Given the description of an element on the screen output the (x, y) to click on. 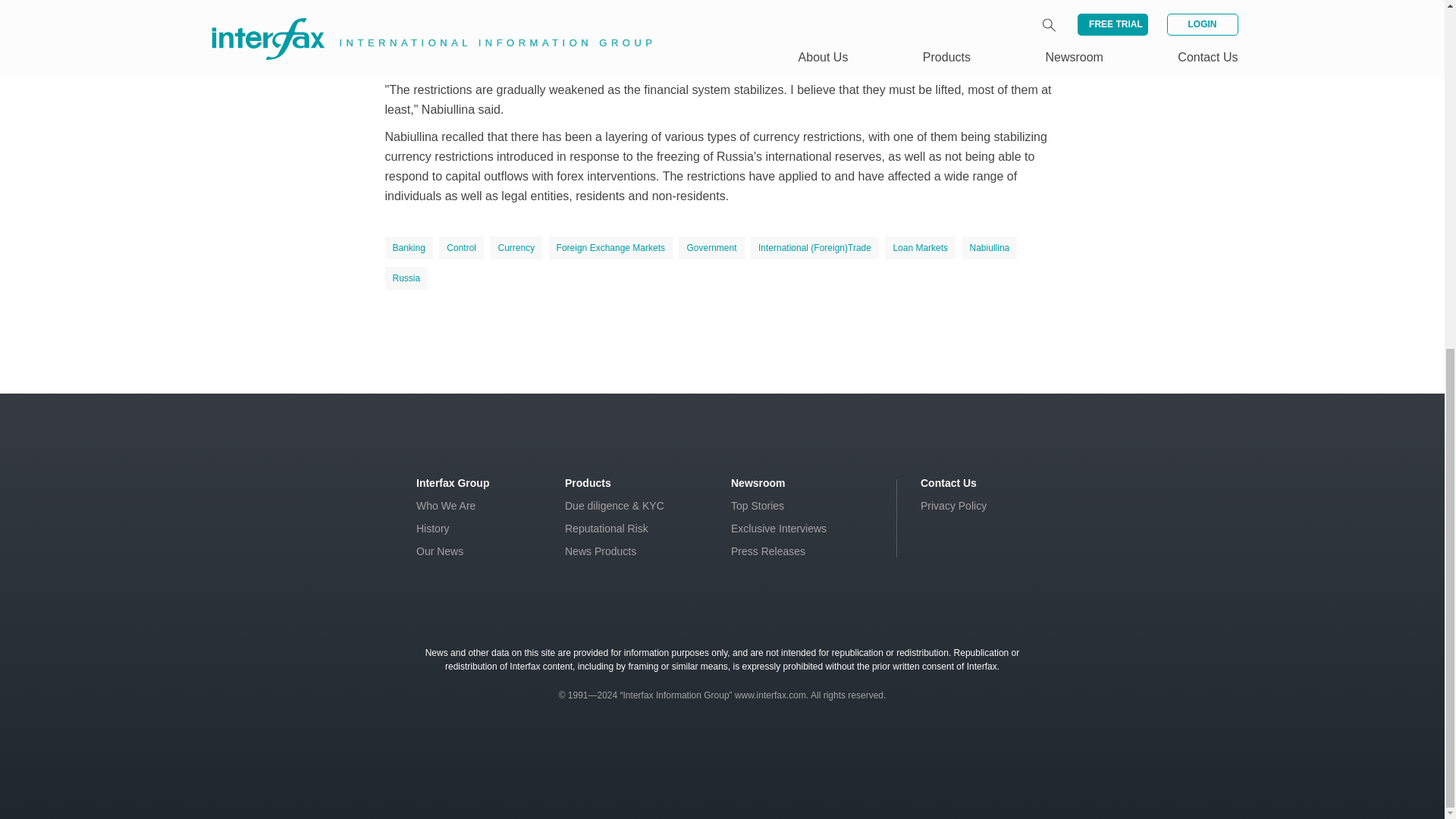
Foreign Exchange Markets (610, 247)
Control (461, 247)
Banking (408, 247)
Currency (515, 247)
